Given the description of an element on the screen output the (x, y) to click on. 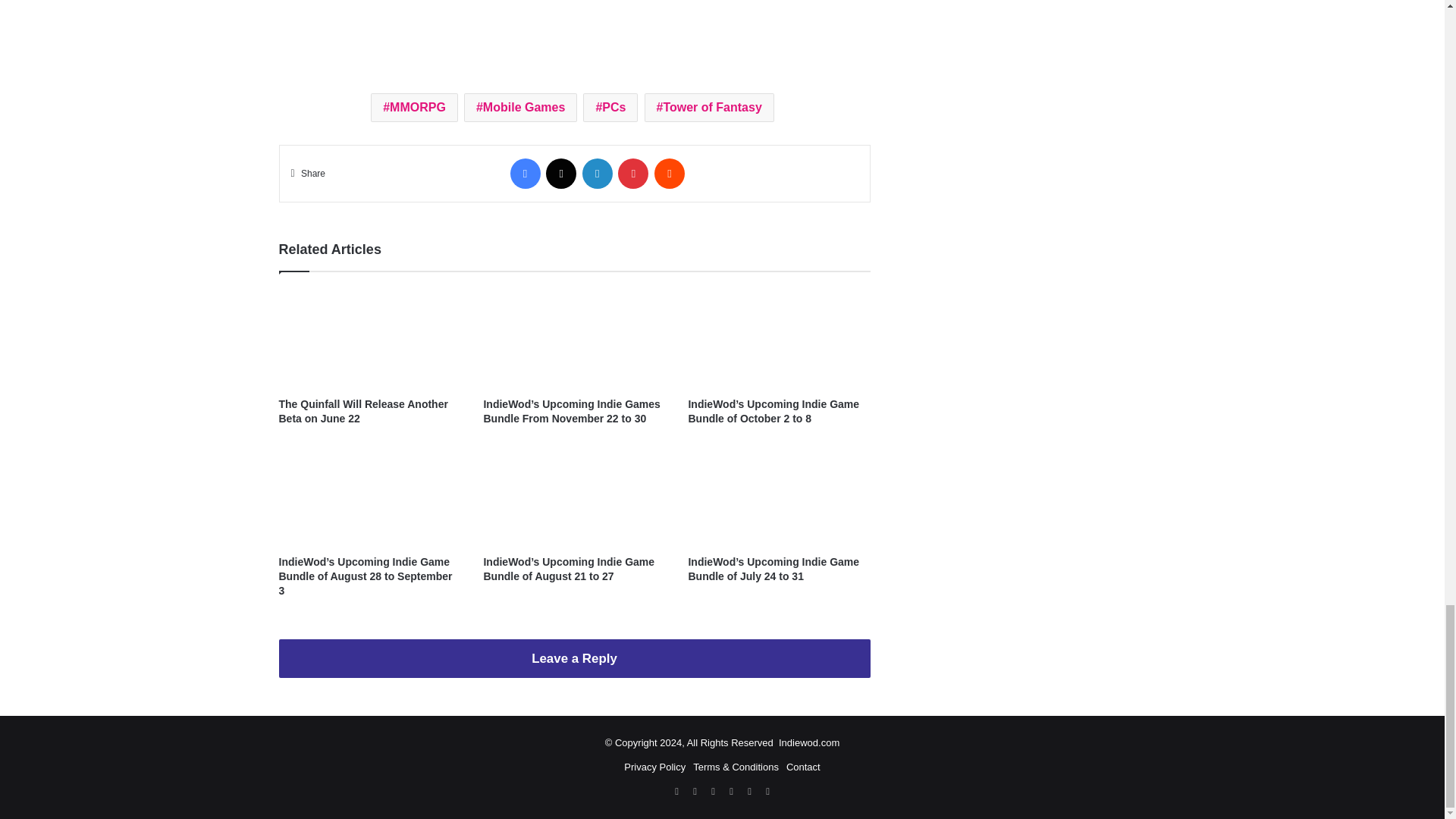
Facebook (524, 173)
Official Launch of Tower of Fantasy!! (574, 29)
X (561, 173)
Pinterest (632, 173)
LinkedIn (597, 173)
